Given the description of an element on the screen output the (x, y) to click on. 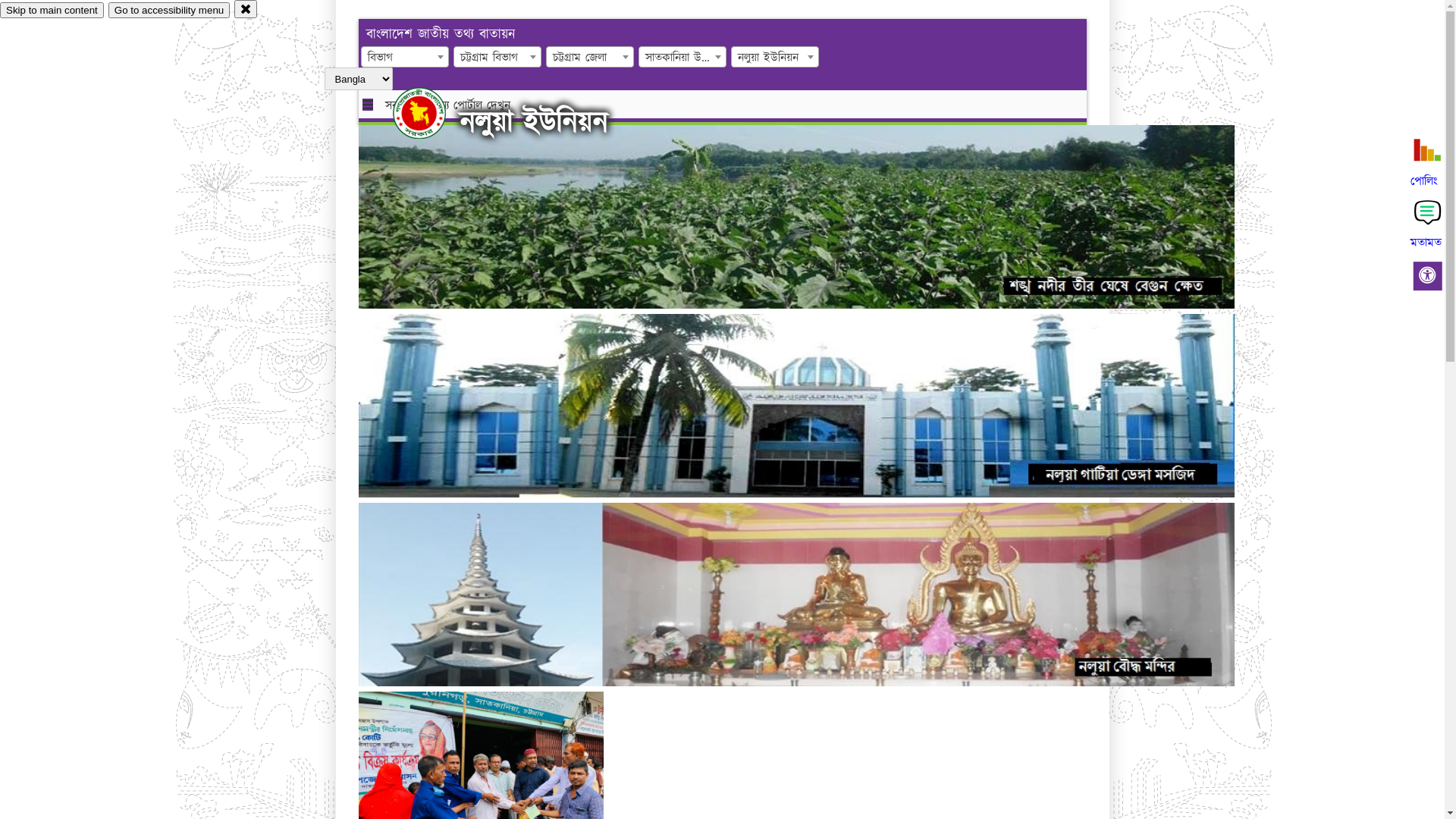
Go to accessibility menu Element type: text (168, 10)

                
             Element type: hover (431, 112)
Skip to main content Element type: text (51, 10)
close Element type: hover (245, 9)
